Given the description of an element on the screen output the (x, y) to click on. 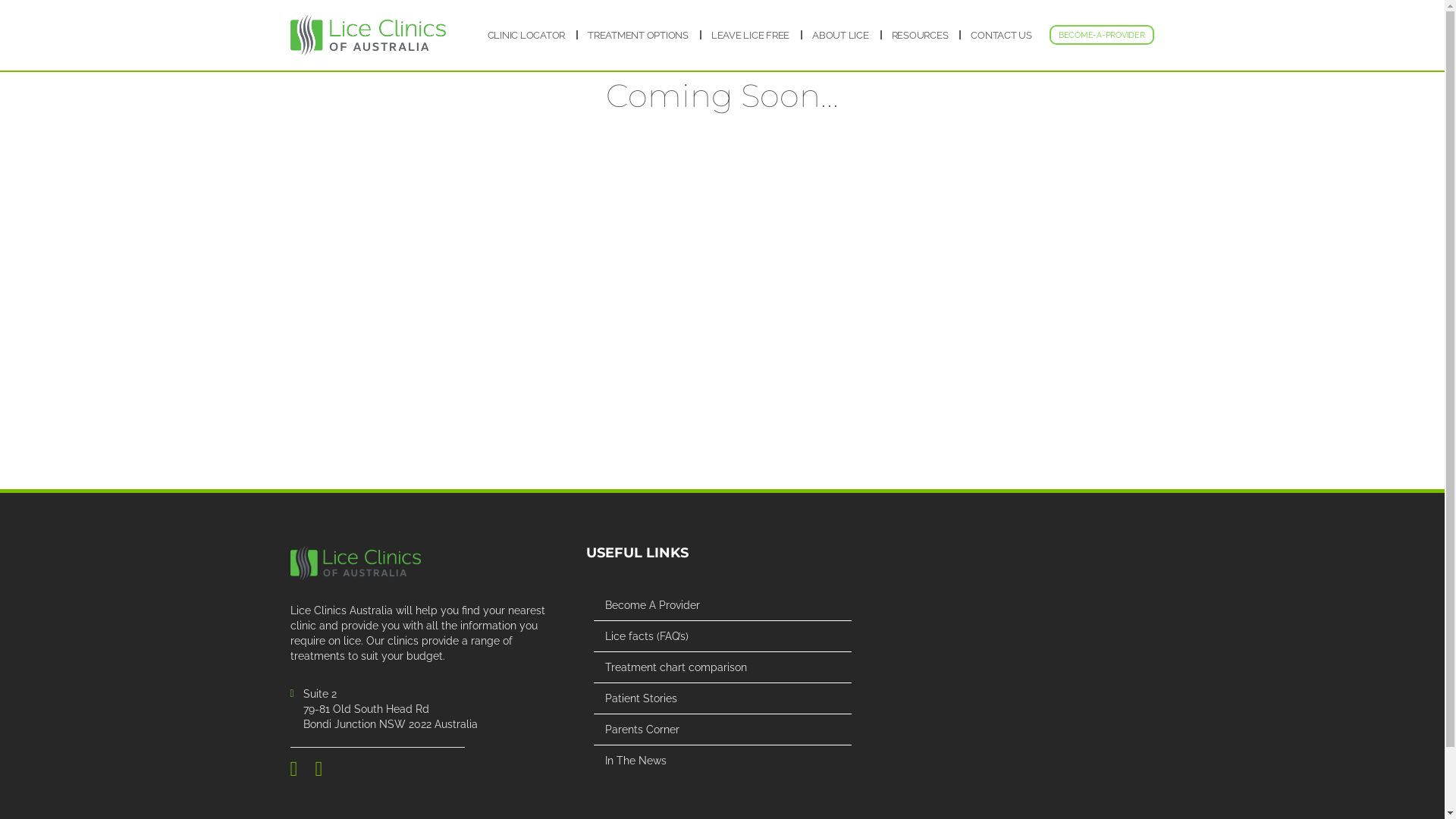
CONTACT US Element type: text (1001, 35)
Become A Provider Element type: text (728, 604)
Treatment chart comparison Element type: text (728, 666)
ABOUT LICE Element type: text (840, 35)
BECOME-A-PROVIDER Element type: text (1101, 34)
LEAVE LICE FREE Element type: text (750, 35)
TREATMENT OPTIONS Element type: text (637, 35)
In The News Element type: text (728, 760)
CLINIC LOCATOR Element type: text (525, 35)
RESOURCES Element type: text (919, 35)
Patient Stories Element type: text (728, 698)
Parents Corner Element type: text (728, 729)
